Given the description of an element on the screen output the (x, y) to click on. 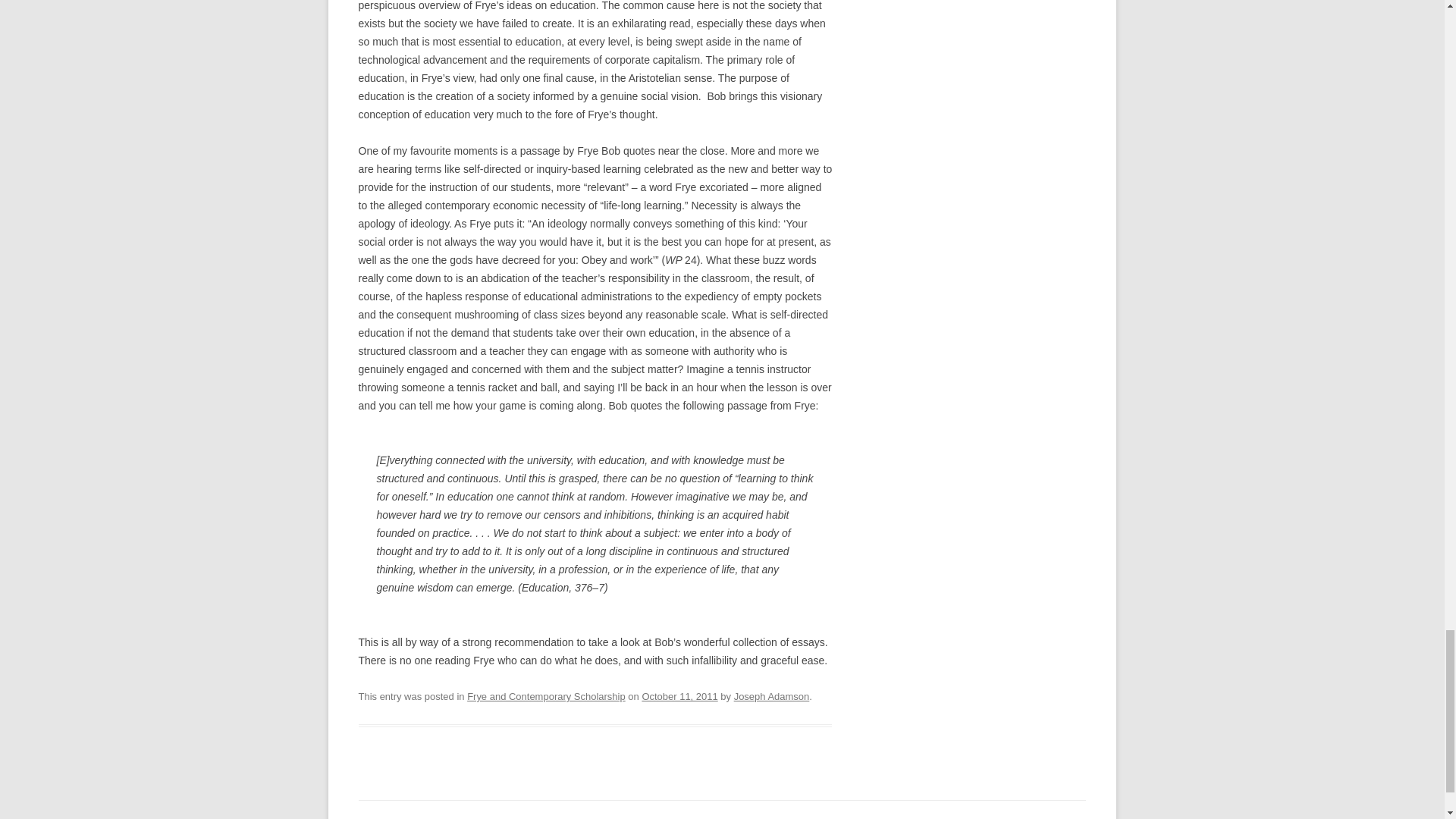
Joseph Adamson (771, 696)
View all posts by Joseph Adamson (771, 696)
October 11, 2011 (679, 696)
Frye and Contemporary Scholarship (546, 696)
12:02 am (679, 696)
